Given the description of an element on the screen output the (x, y) to click on. 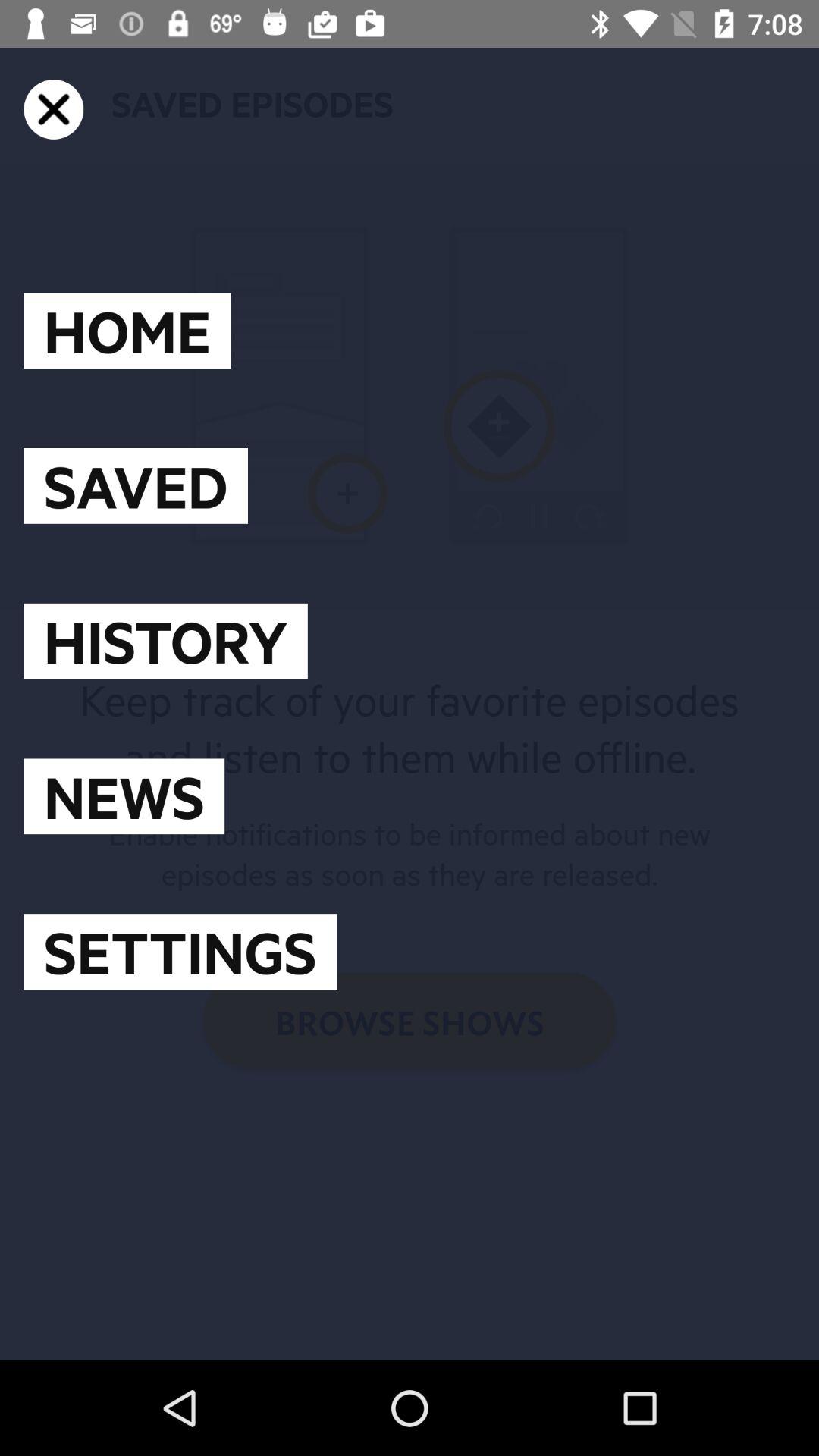
press item below news (179, 951)
